Given the description of an element on the screen output the (x, y) to click on. 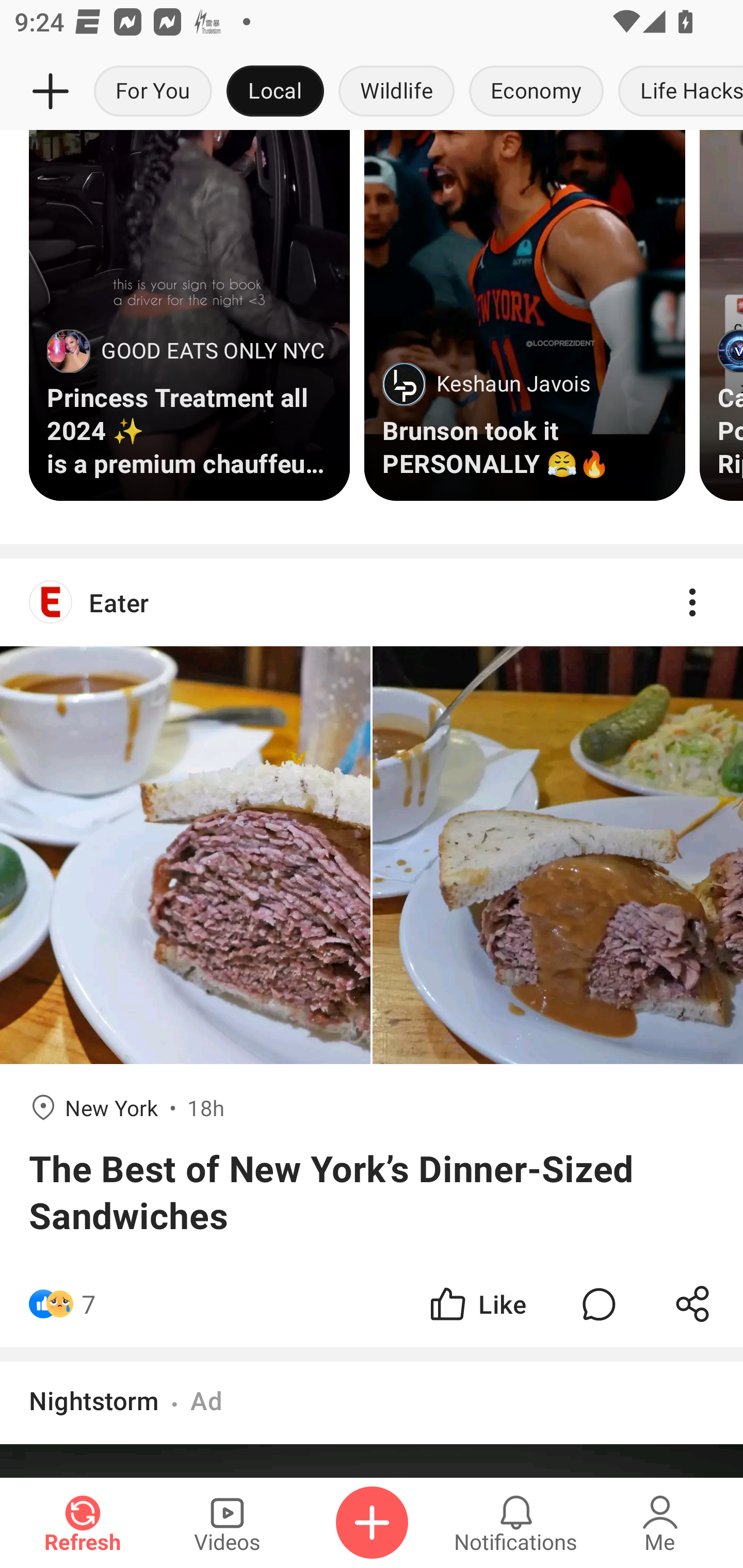
For You (152, 91)
Local (275, 91)
Wildlife (396, 91)
Economy (536, 91)
Life Hacks (676, 91)
Keshaun Javois Brunson took it PERSONALLY 😤🔥 (524, 315)
Eater (371, 602)
7 (88, 1303)
Like (476, 1303)
Nightstorm (93, 1399)
Videos (227, 1522)
Notifications (516, 1522)
Me (659, 1522)
